Given the description of an element on the screen output the (x, y) to click on. 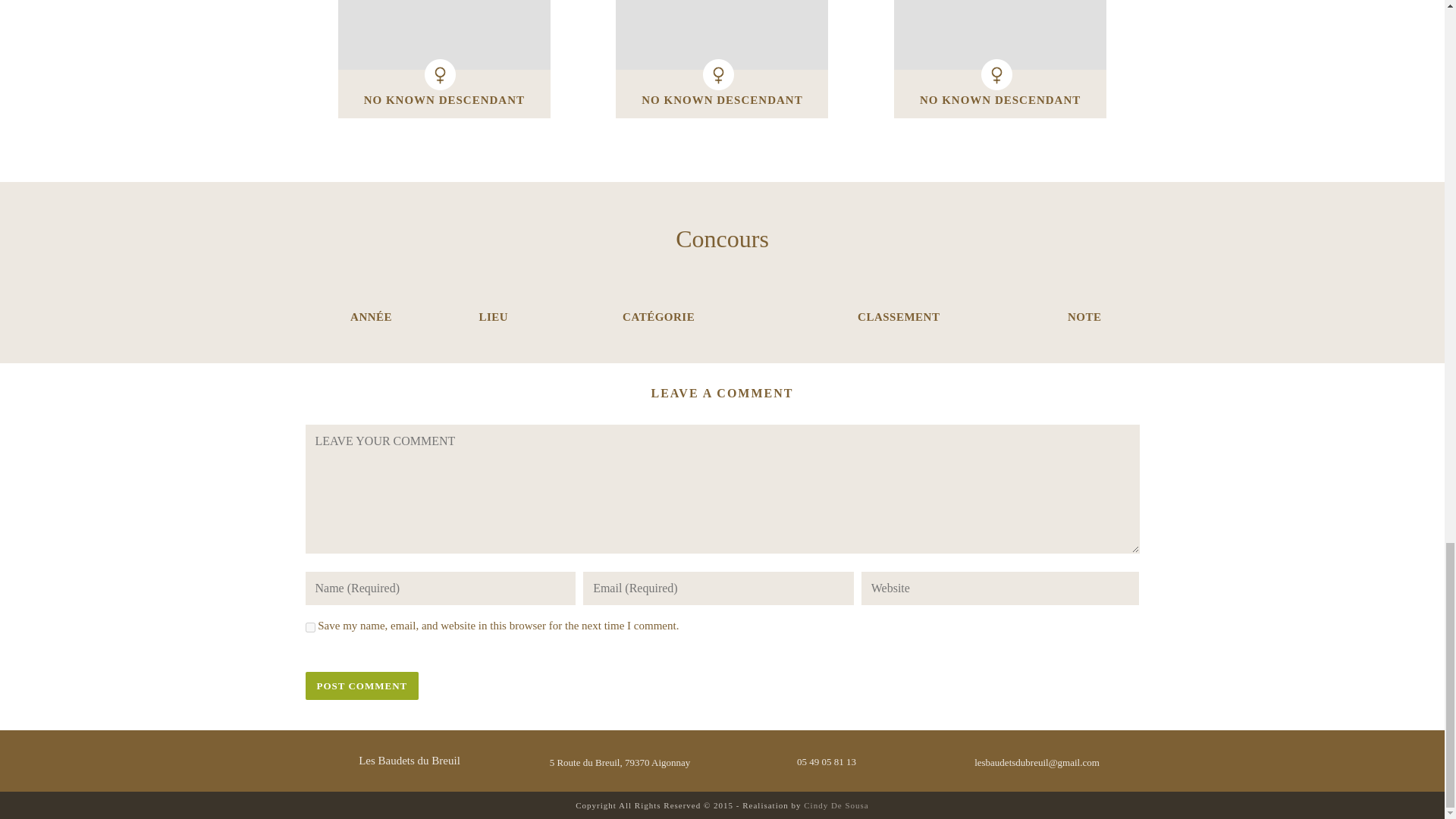
yes (309, 627)
POST COMMENT (361, 685)
